Given the description of an element on the screen output the (x, y) to click on. 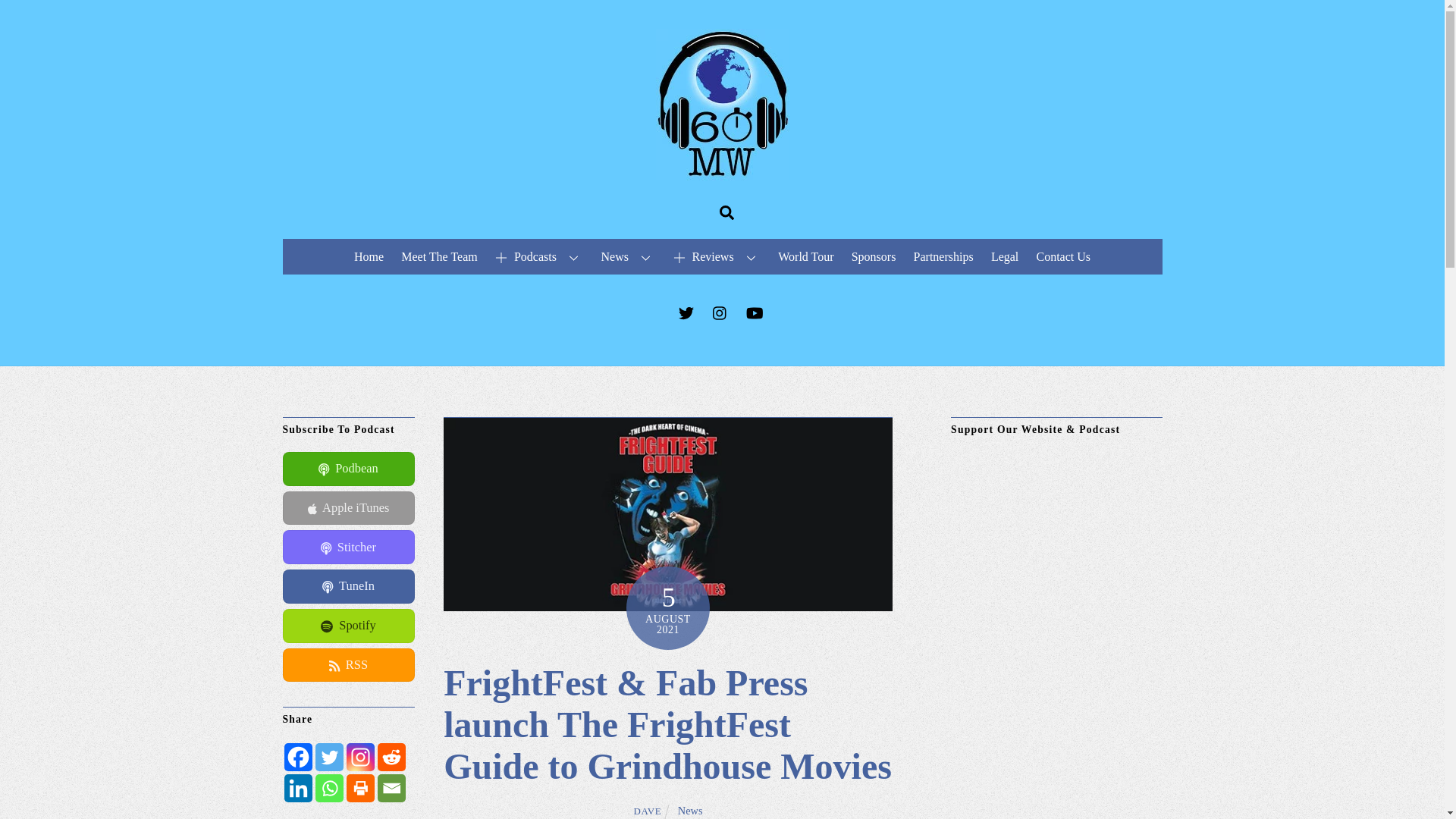
Legal (1005, 256)
News (690, 810)
Podcasts (539, 256)
Search (726, 211)
Home (368, 256)
HeaderGrindhouseMoviesBookNews (668, 513)
News (628, 256)
Sponsors (873, 256)
Partnerships (942, 256)
World Tour (806, 256)
